Given the description of an element on the screen output the (x, y) to click on. 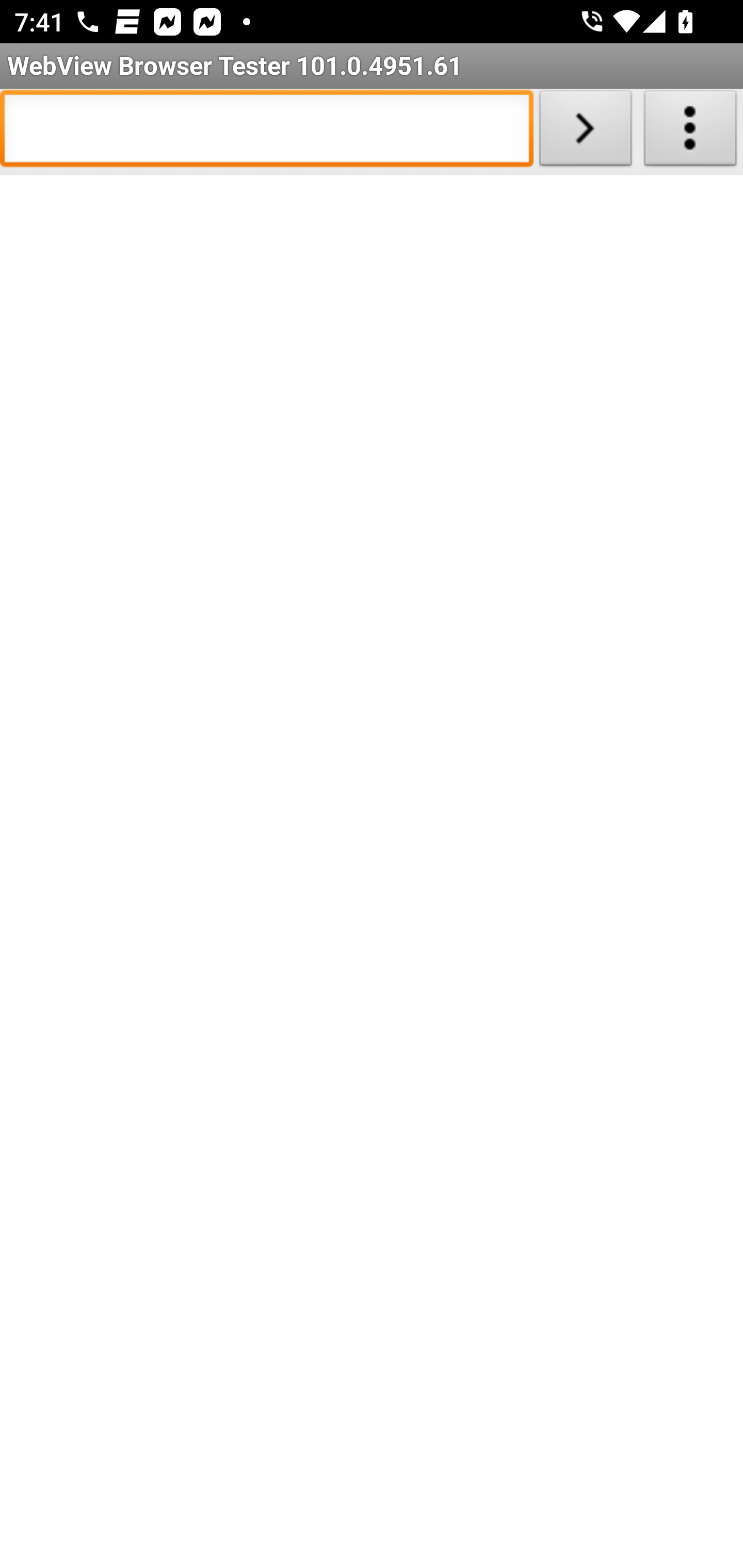
Load URL (585, 132)
About WebView (690, 132)
